Given the description of an element on the screen output the (x, y) to click on. 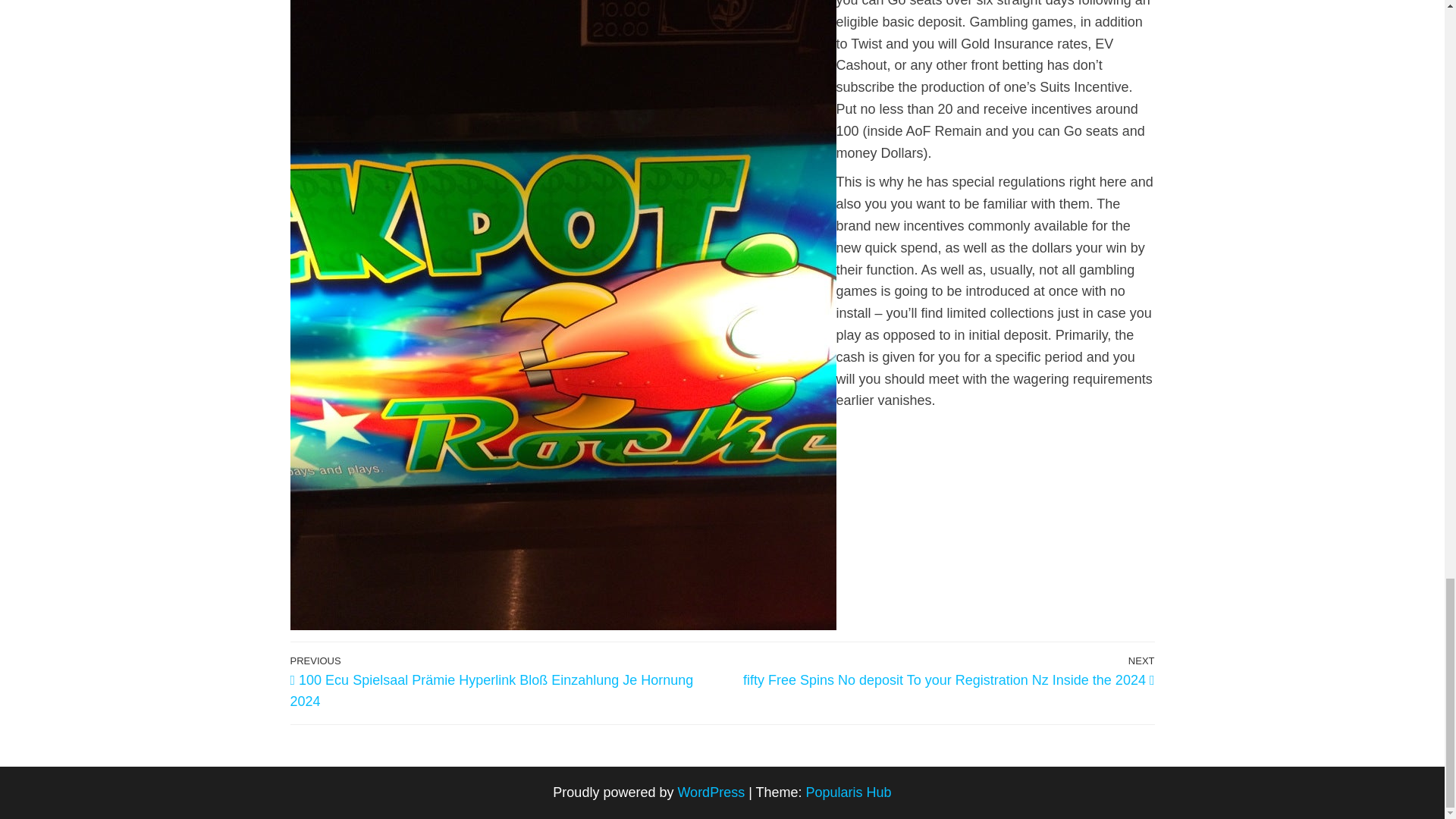
WordPress (710, 792)
Popularis Hub (848, 792)
